Given the description of an element on the screen output the (x, y) to click on. 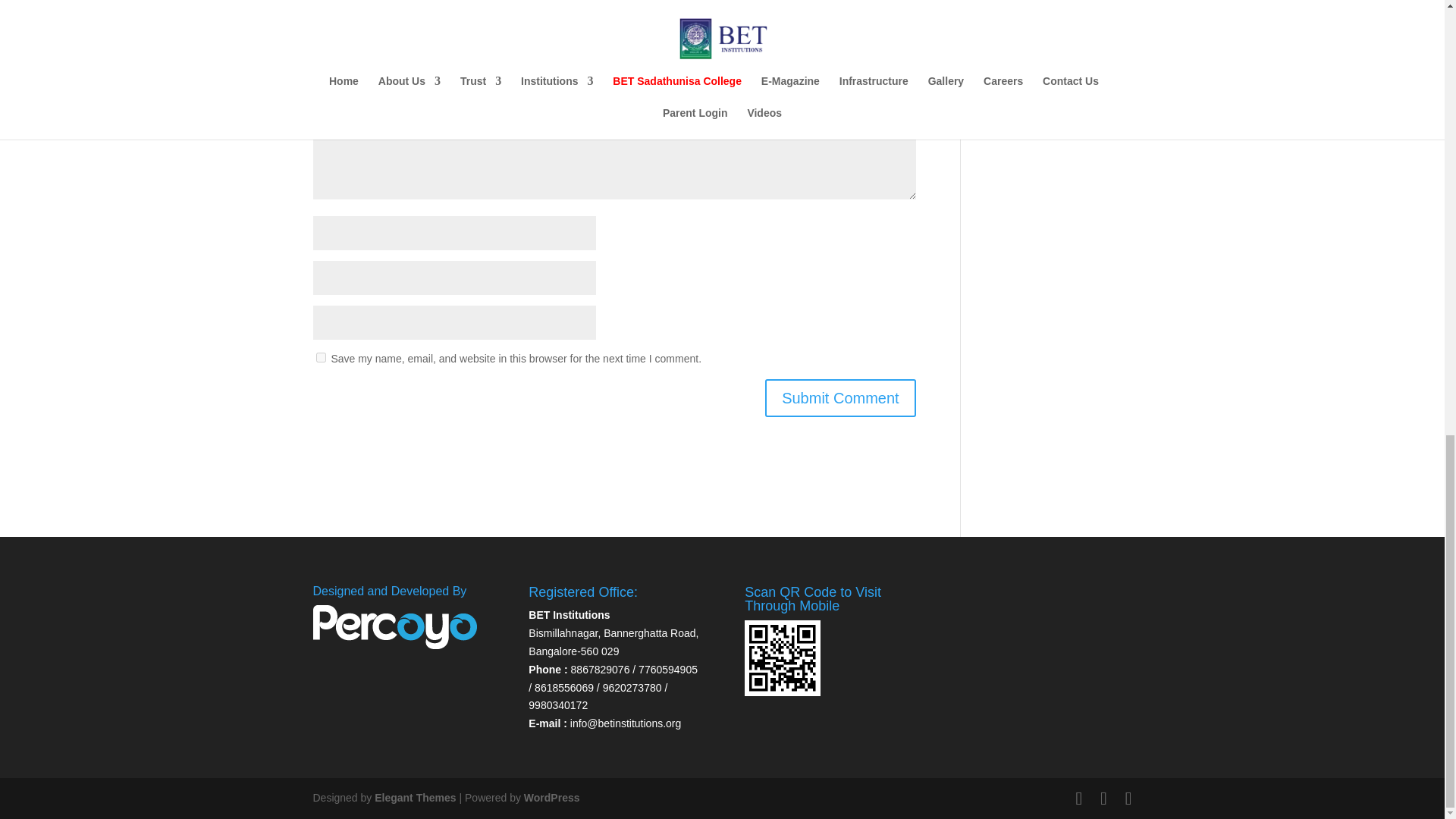
Premium WordPress Themes (414, 797)
yes (319, 357)
Submit Comment (840, 397)
